Given the description of an element on the screen output the (x, y) to click on. 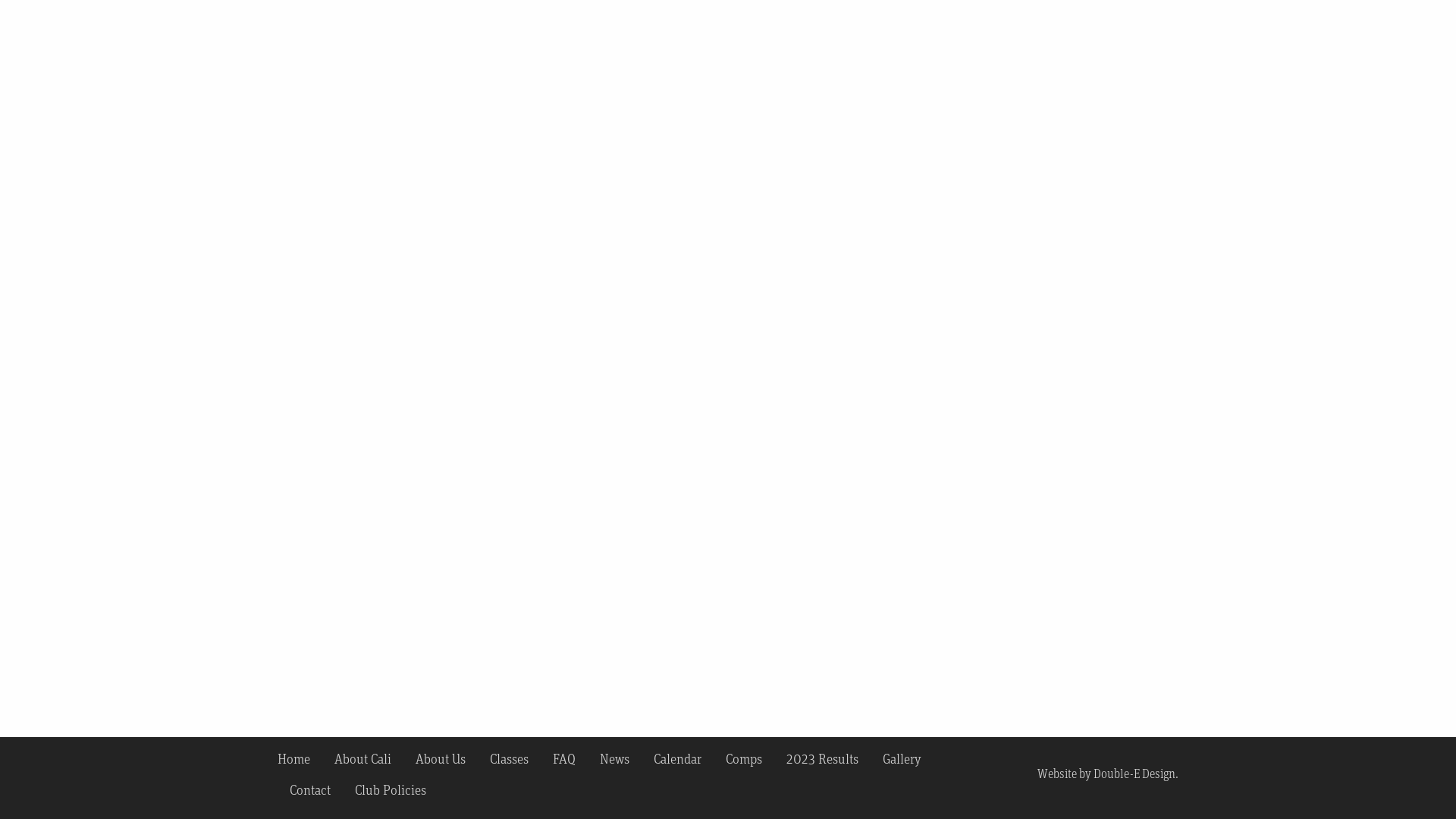
Calendar Element type: text (677, 758)
Home Element type: text (299, 758)
Gallery Element type: text (901, 758)
FAQ Element type: text (563, 758)
Club Policies Element type: text (390, 788)
Comps Element type: text (743, 758)
2023 Results Element type: text (822, 758)
About Us Element type: text (440, 758)
About Cali Element type: text (362, 758)
Double-E Design Element type: text (1134, 773)
News Element type: text (614, 758)
Classes Element type: text (508, 758)
Contact Element type: text (309, 788)
